Given the description of an element on the screen output the (x, y) to click on. 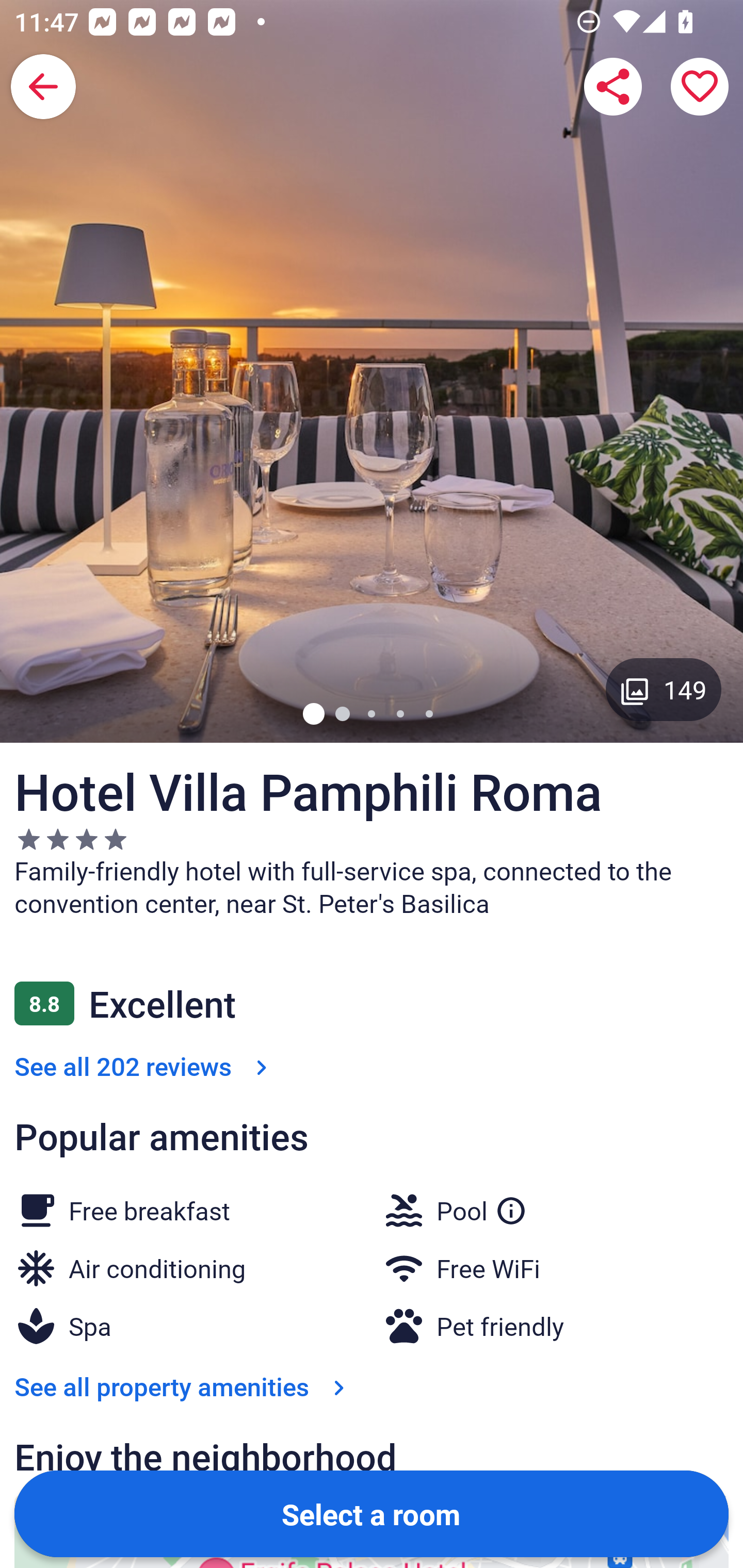
Back (43, 86)
Save property to a trip (699, 86)
Share Hotel Villa Pamphili Roma (612, 87)
Gallery button with 149 images (663, 689)
See all 202 reviews See all 202 reviews Link (144, 1066)
Pool (481, 1206)
See all property amenities (183, 1386)
Select a room Button Select a room (371, 1513)
